Given the description of an element on the screen output the (x, y) to click on. 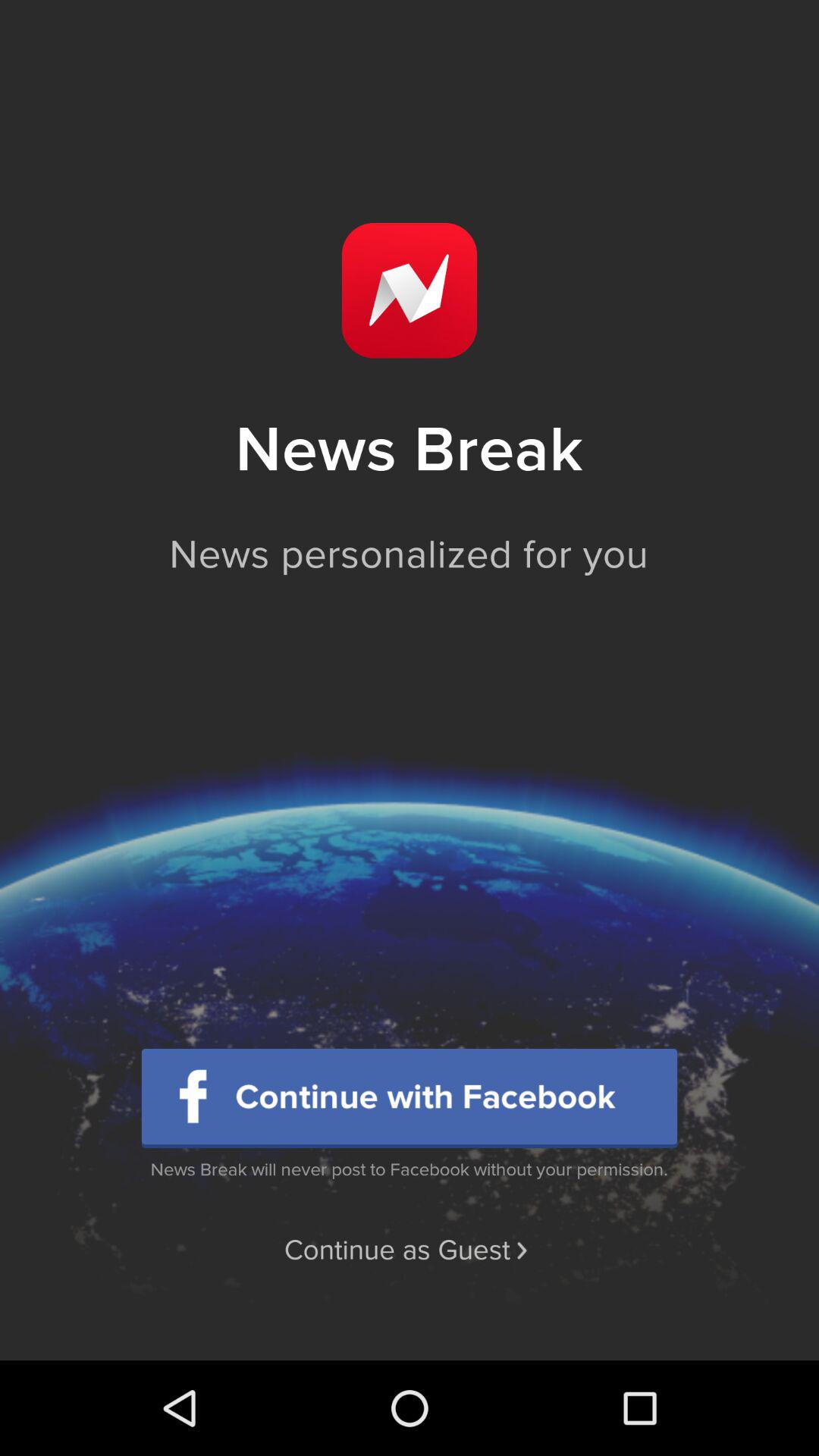
tap continue as guest icon (409, 1250)
